Given the description of an element on the screen output the (x, y) to click on. 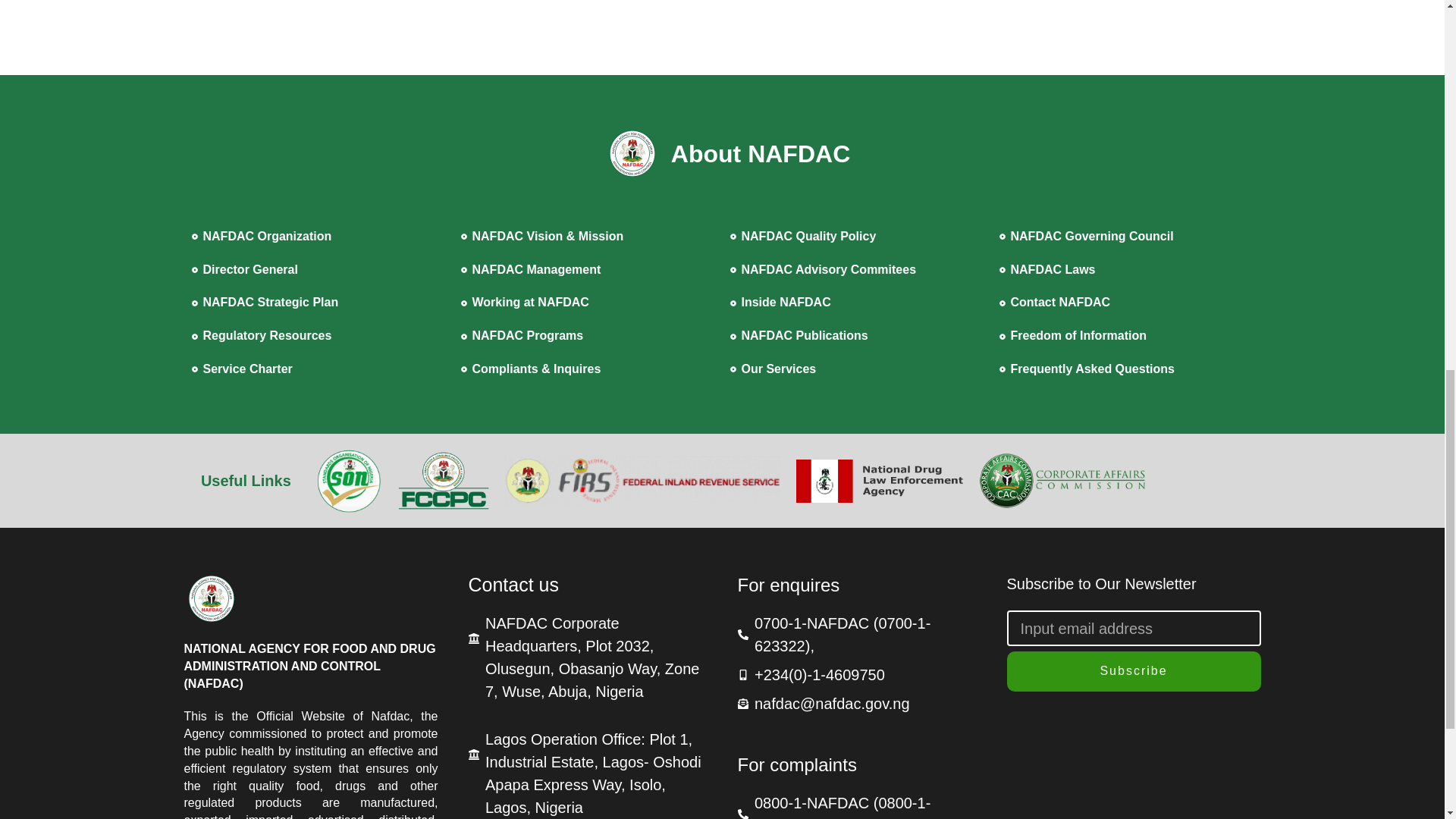
Working at NAFDAC (587, 302)
NAFDAC Management (587, 270)
NAFDAC Strategic Plan (317, 302)
Our Services (856, 369)
Director General (317, 270)
Freedom of Information (1125, 336)
NAFDAC Quality Policy (856, 237)
NAFDAC Governing Council (1125, 237)
NAFDAC Advisory Commitees (856, 270)
NAFDAC Publications (856, 336)
Contact NAFDAC (1125, 302)
NAFDAC Organization (317, 237)
NAFDAC Laws (1125, 270)
NAFDAC Programs (587, 336)
Regulatory Resources (317, 336)
